Given the description of an element on the screen output the (x, y) to click on. 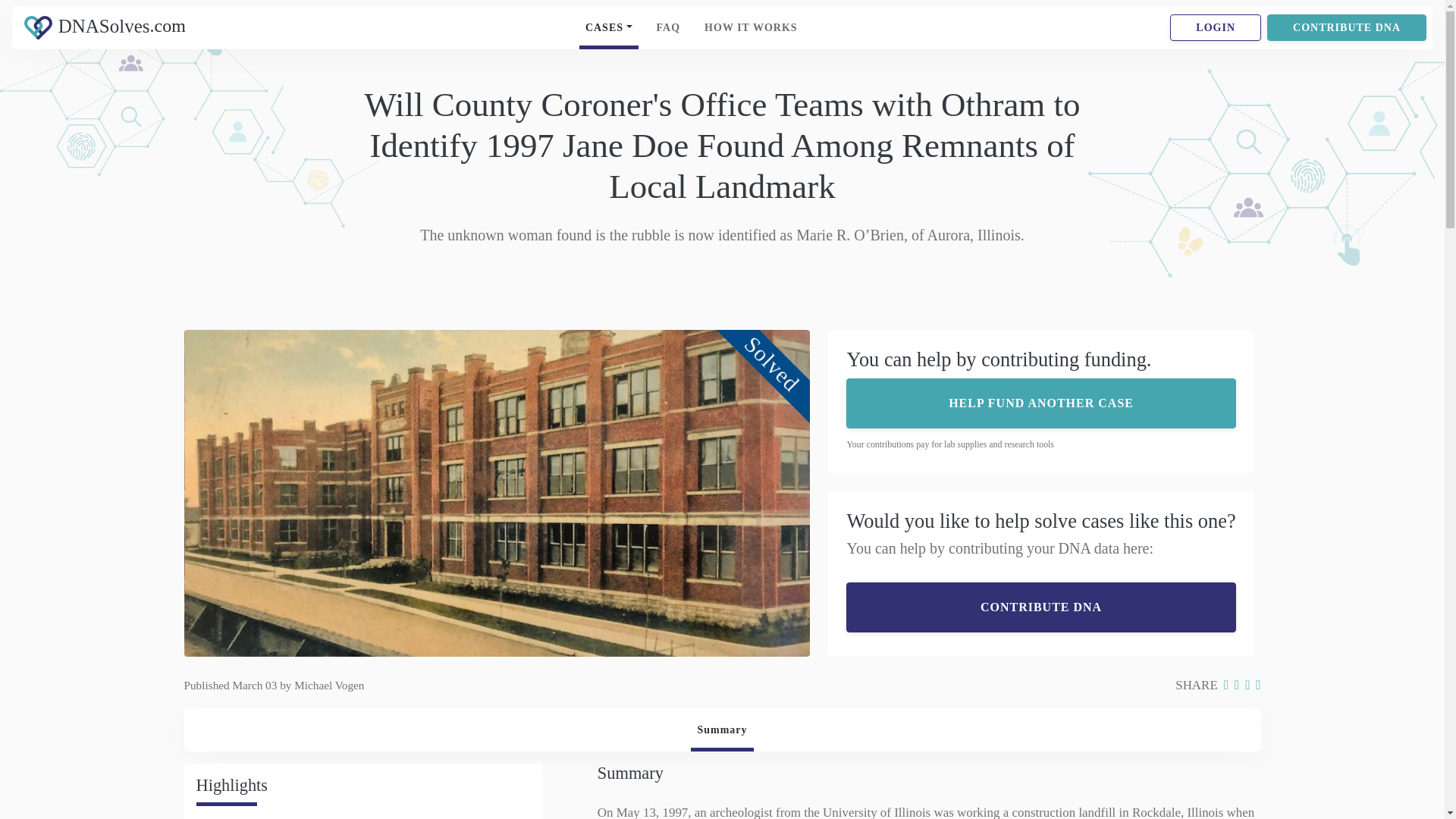
HELP FUND ANOTHER CASE (1039, 402)
CONTRIBUTE DNA (231, 28)
CASES (1039, 607)
LOGIN (609, 27)
Summary (1215, 27)
HOW IT WORKS (721, 729)
CONTRIBUTE DNA (750, 27)
